Given the description of an element on the screen output the (x, y) to click on. 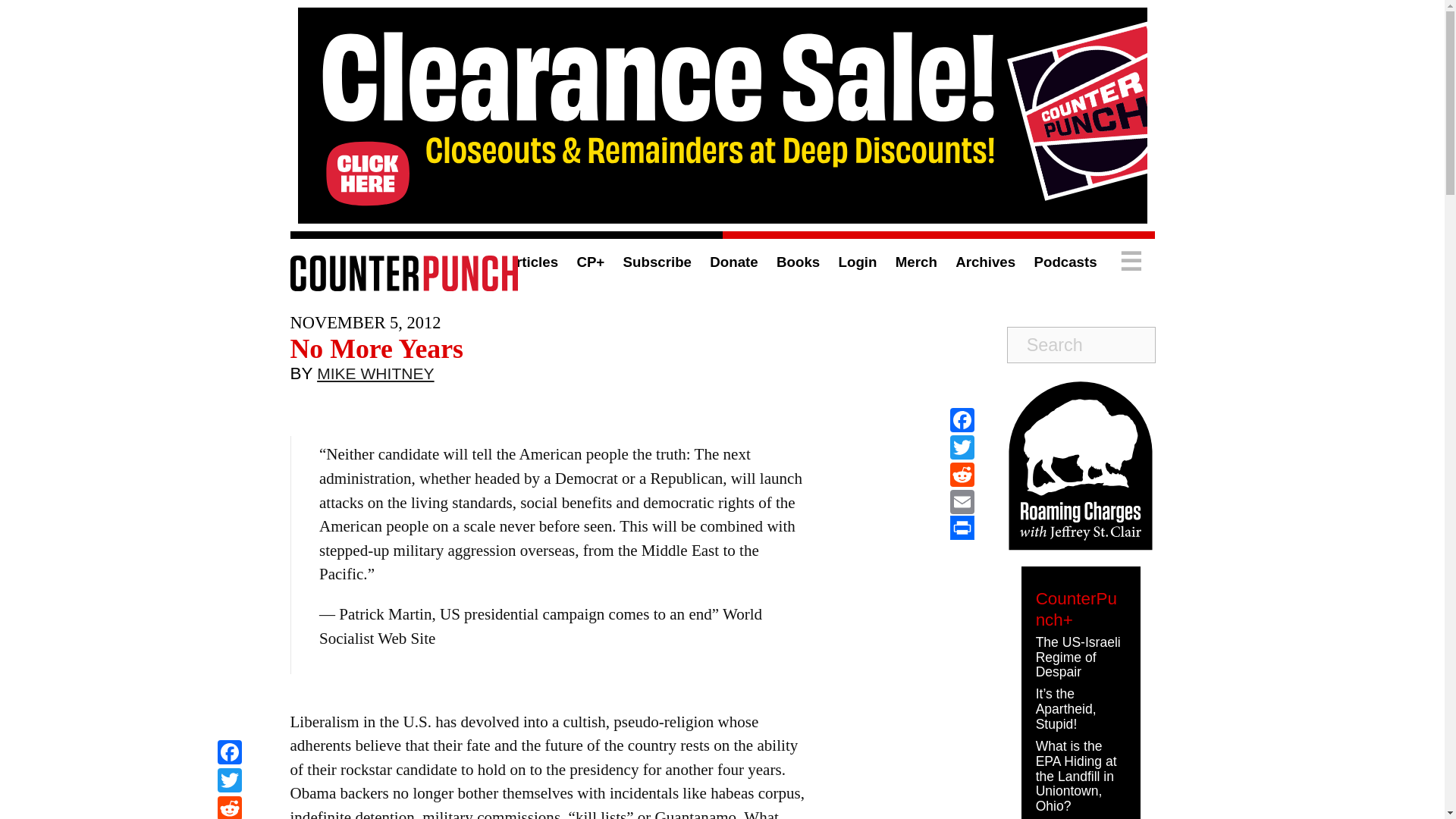
What is the EPA Hiding at the Landfill in Uniontown, Ohio? (1075, 776)
Reddit (229, 807)
Twitter (229, 782)
Subscribe (657, 261)
Archives (984, 261)
Donate (733, 261)
The US-Israeli Regime of Despair (1078, 657)
MIKE WHITNEY (375, 376)
Articles (531, 261)
Facebook (229, 754)
Print This Post (962, 527)
Podcasts (1064, 261)
Twitter (229, 782)
Login (857, 261)
Facebook (229, 754)
